Given the description of an element on the screen output the (x, y) to click on. 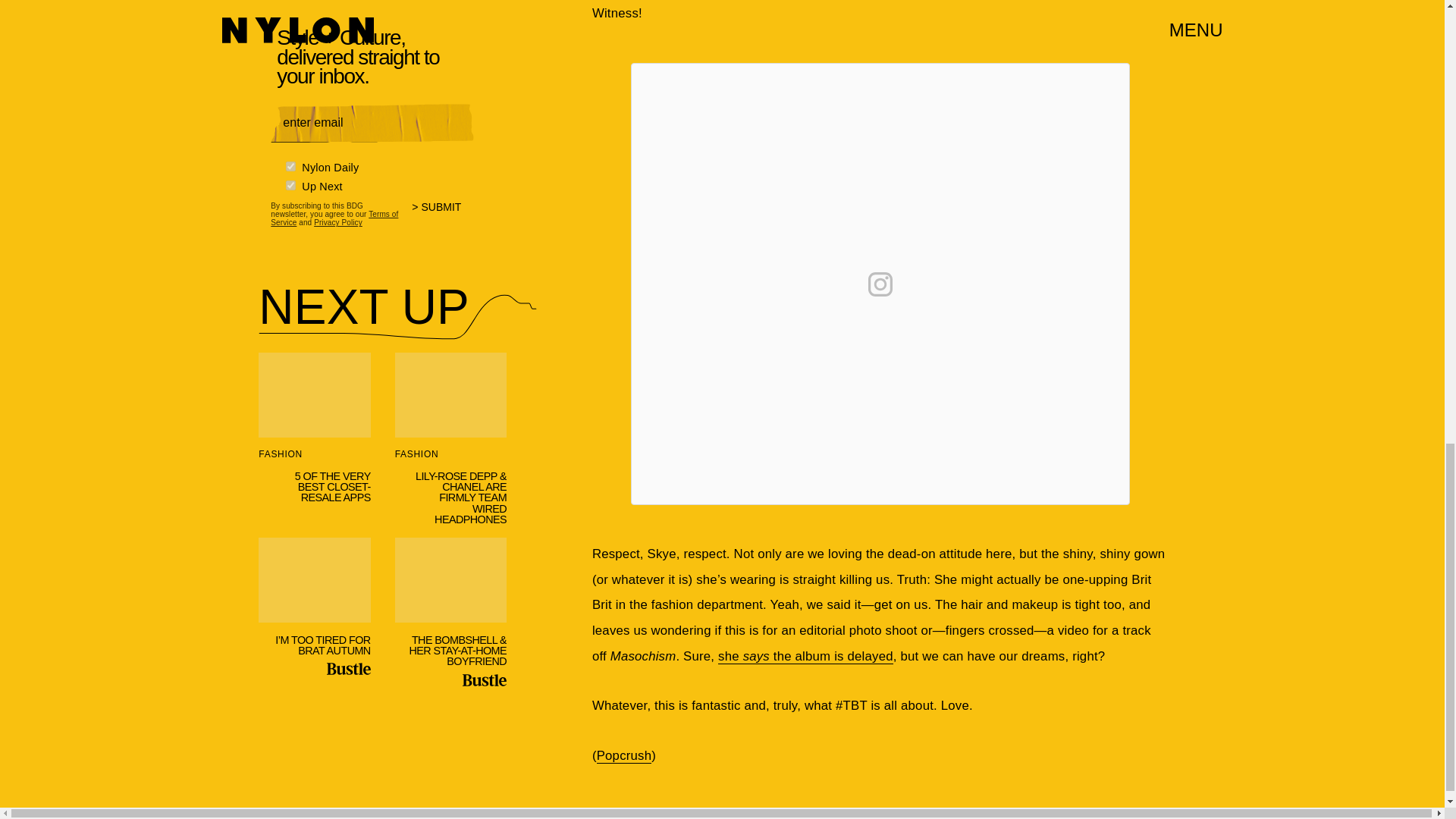
Popcrush (624, 755)
Terms of Service (333, 217)
SUBMIT (443, 216)
Privacy Policy (338, 222)
View on Instagram (879, 284)
she says the album is delayed (805, 656)
